Given the description of an element on the screen output the (x, y) to click on. 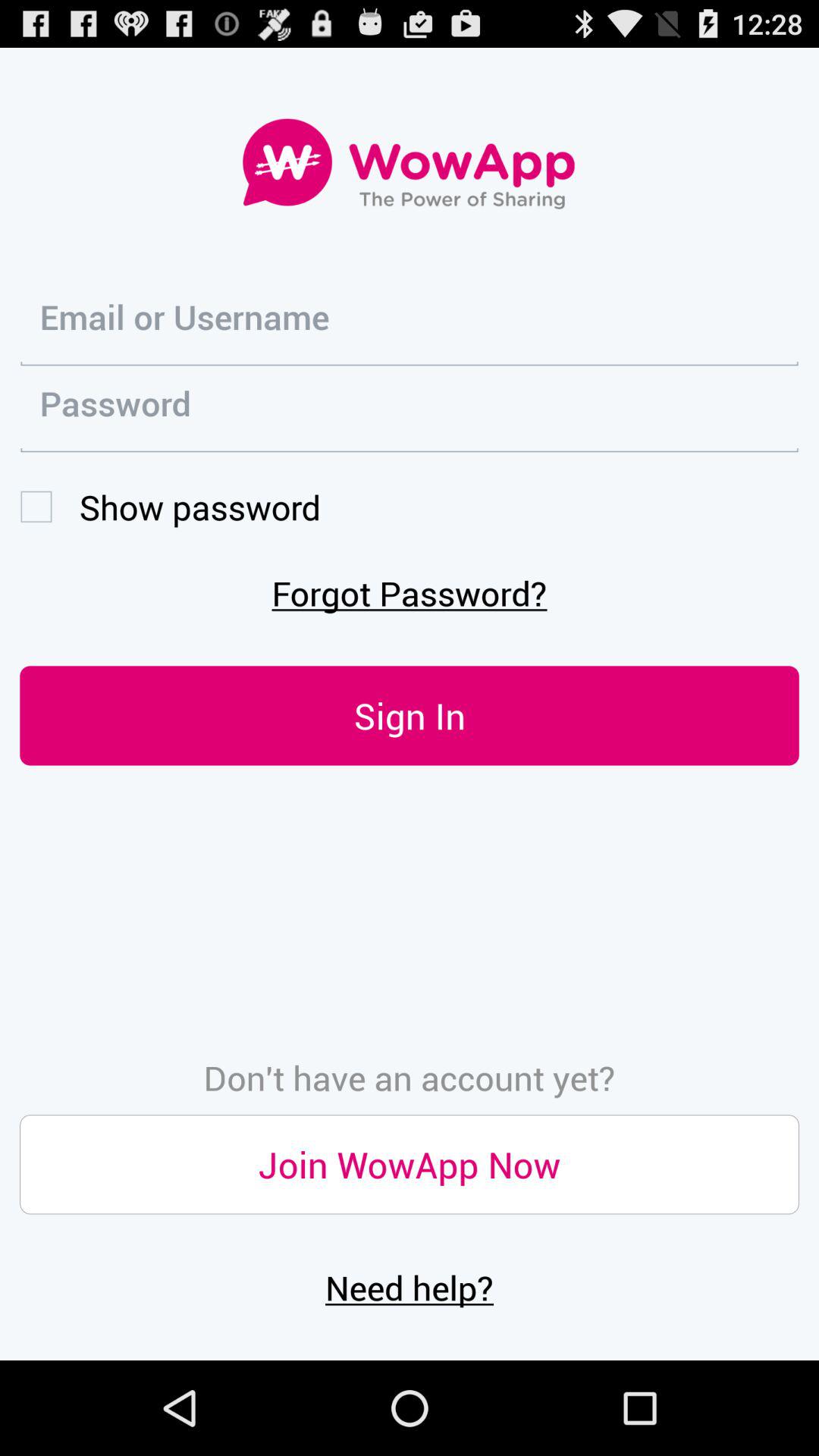
swipe to join wowapp now item (409, 1164)
